Given the description of an element on the screen output the (x, y) to click on. 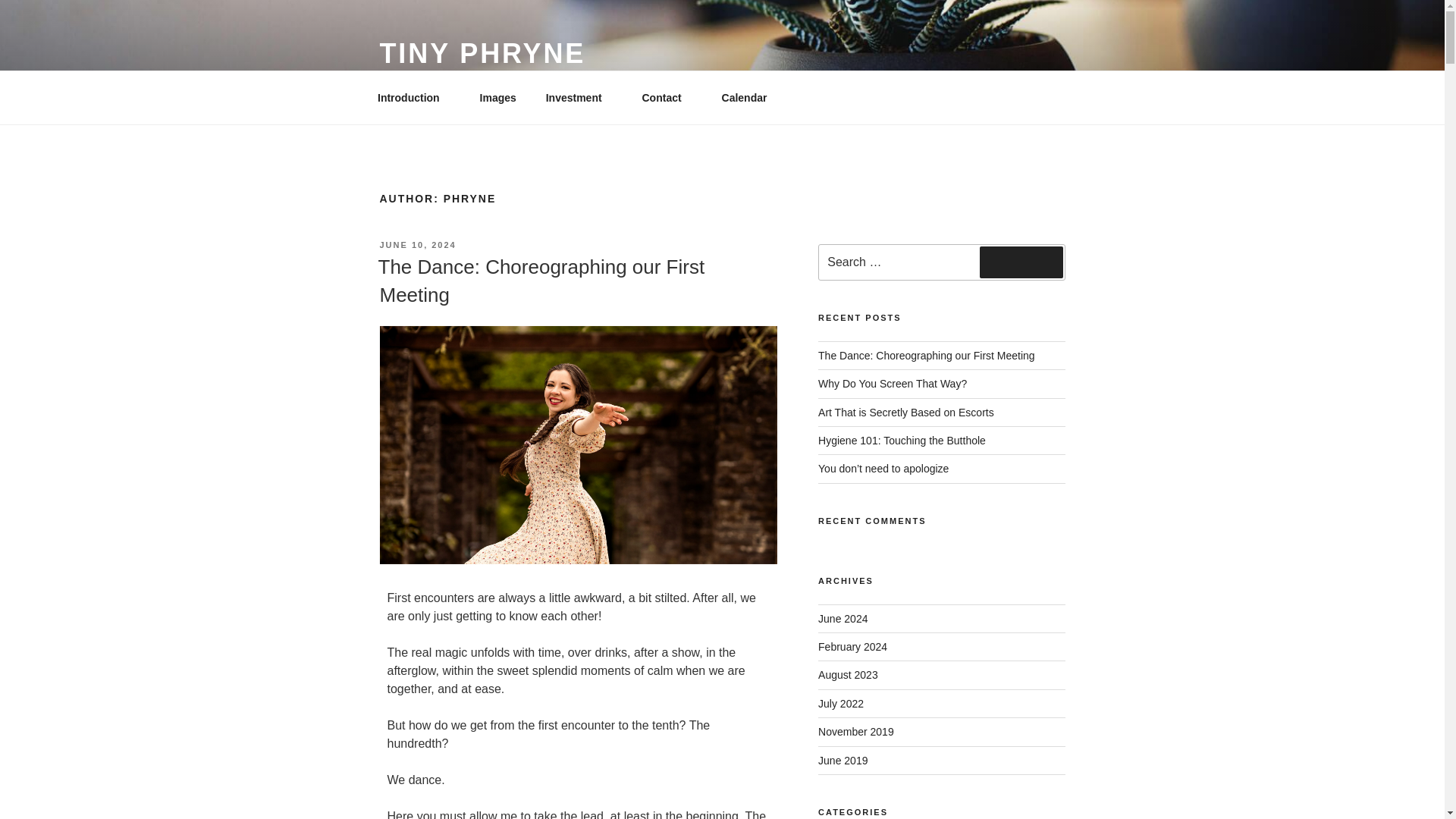
TINY PHRYNE (481, 52)
Images (497, 97)
Introduction (413, 97)
Investment (579, 97)
JUNE 10, 2024 (416, 244)
Contact (666, 97)
The Dance: Choreographing our First Meeting (540, 280)
Calendar (743, 97)
